Given the description of an element on the screen output the (x, y) to click on. 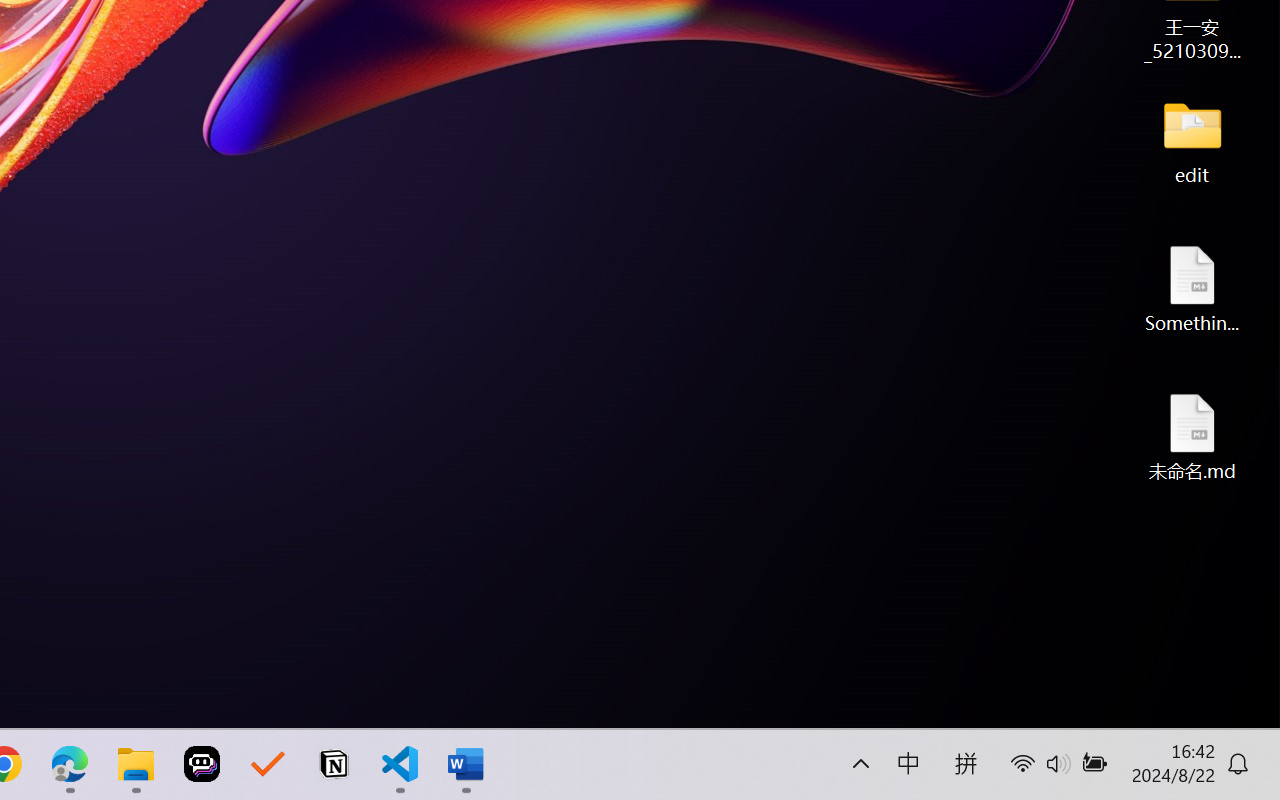
Something.md (1192, 288)
edit (1192, 140)
